Given the description of an element on the screen output the (x, y) to click on. 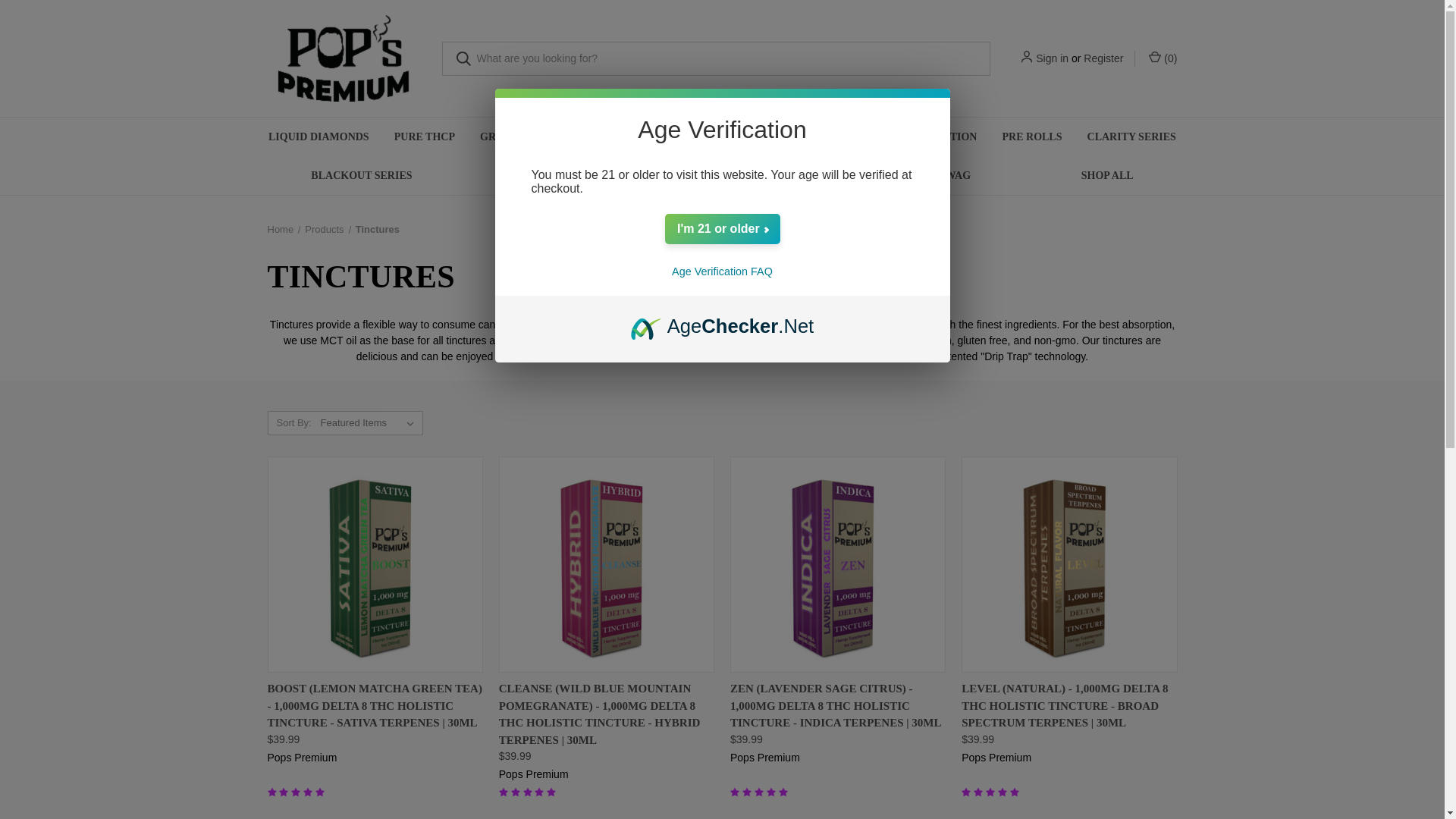
SWAG (954, 175)
Tinctures (376, 229)
PRE ROLLS (1032, 136)
BLACKOUT SERIES (361, 175)
ZEN Lavender Sage Citrus Delta 8 Tincture (837, 564)
QUICK VIEW (550, 684)
Level Natural Delta 8 Tincture (1068, 564)
DIAMONDS (826, 136)
SHOP ALL (1107, 175)
CLARITY SERIES (1131, 136)
